Given the description of an element on the screen output the (x, y) to click on. 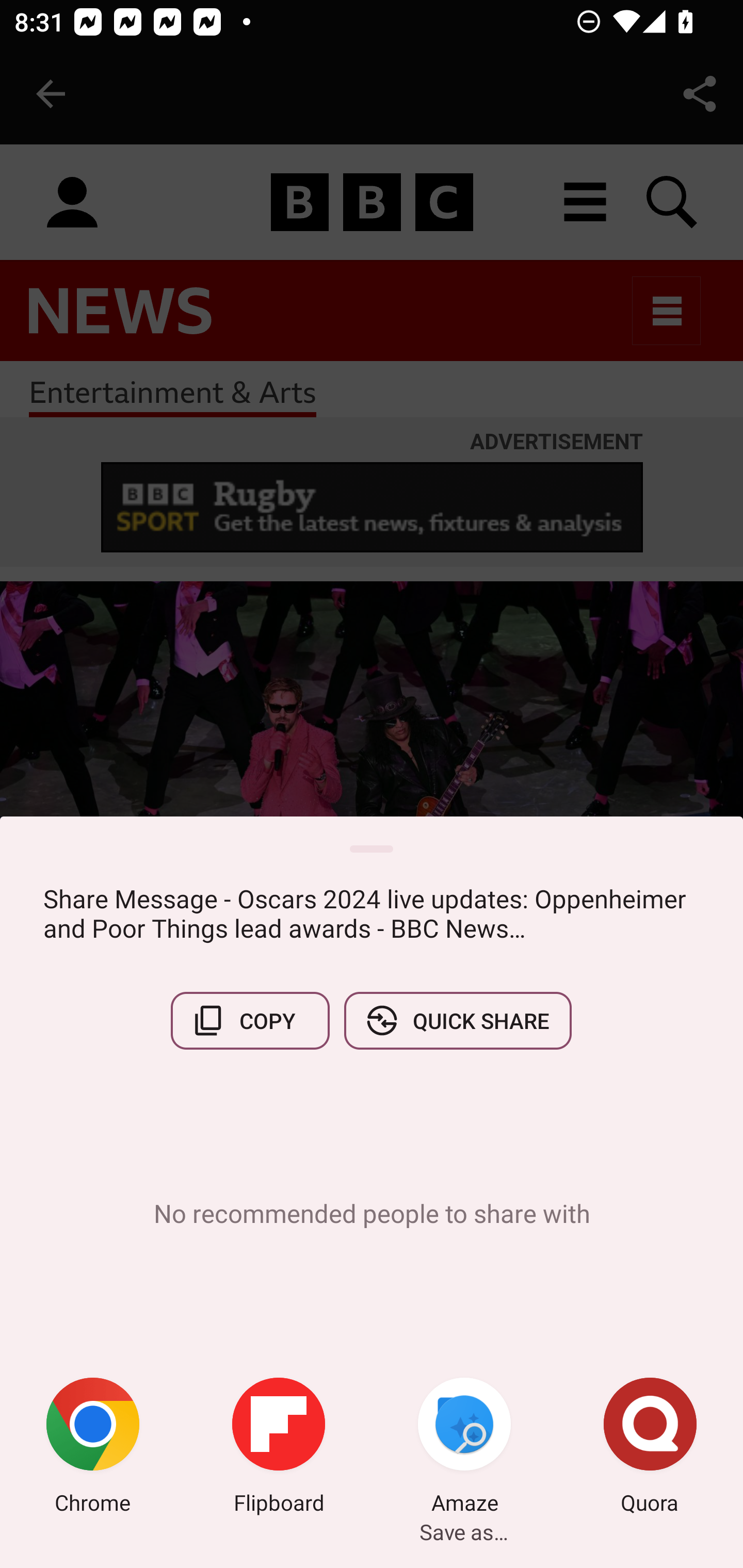
COPY (249, 1020)
QUICK SHARE (457, 1020)
Chrome (92, 1448)
Flipboard (278, 1448)
Amaze Save as… (464, 1448)
Quora (650, 1448)
